Given the description of an element on the screen output the (x, y) to click on. 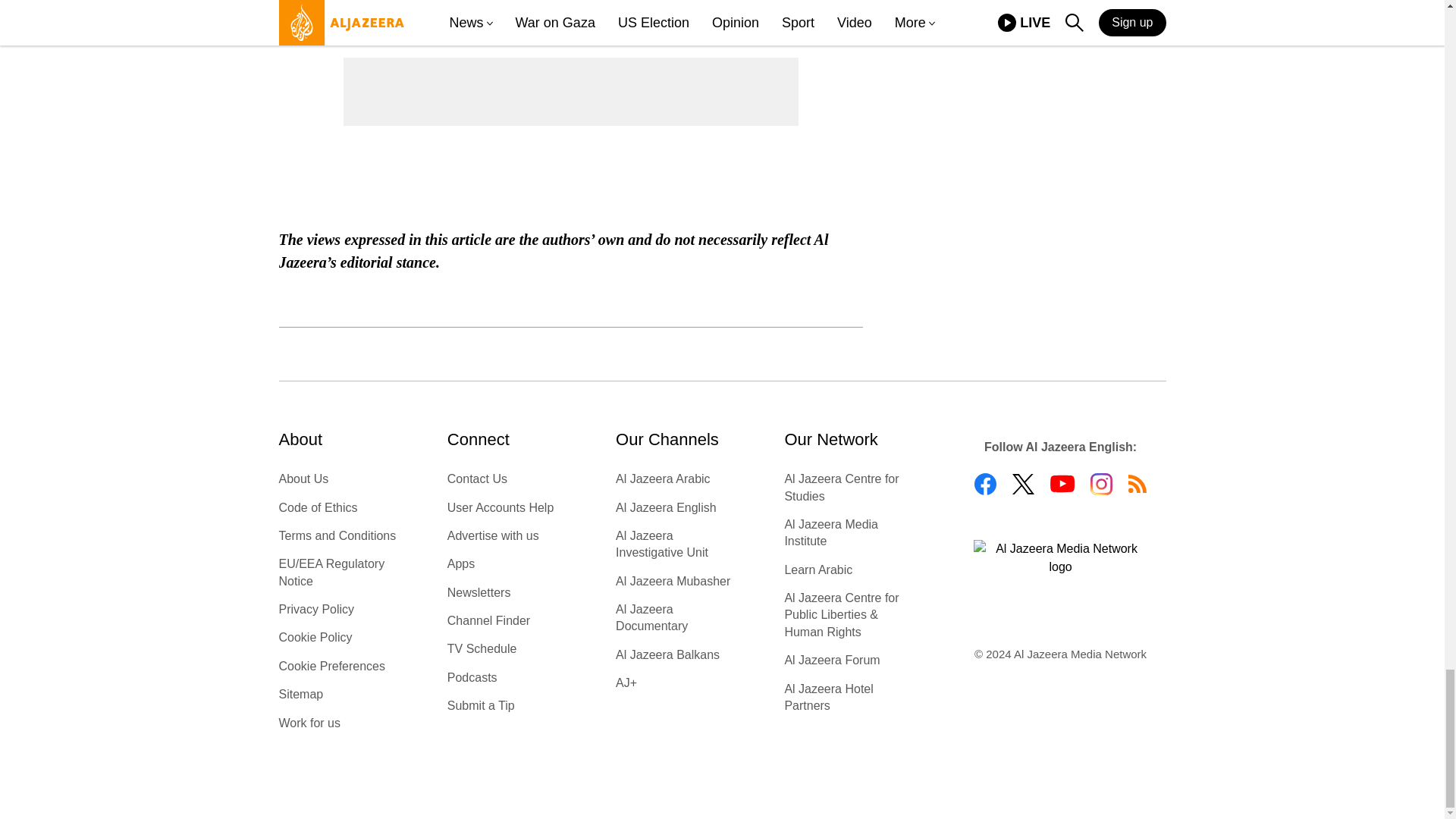
twitter (1022, 484)
instagram-colored-outline (1101, 484)
rss (1137, 484)
facebook (984, 484)
youtube (1061, 483)
